Given the description of an element on the screen output the (x, y) to click on. 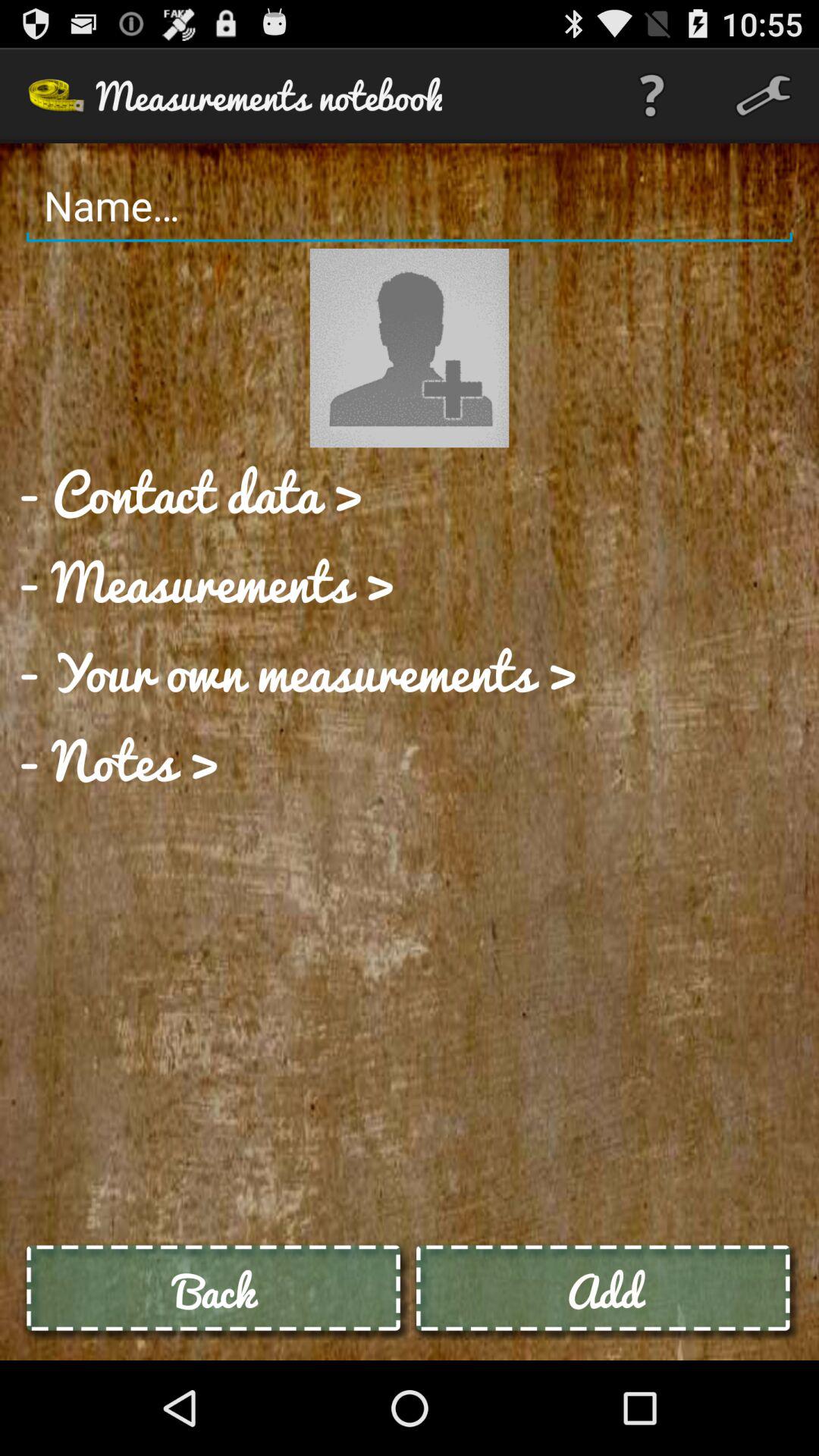
change avatar image (409, 347)
